Given the description of an element on the screen output the (x, y) to click on. 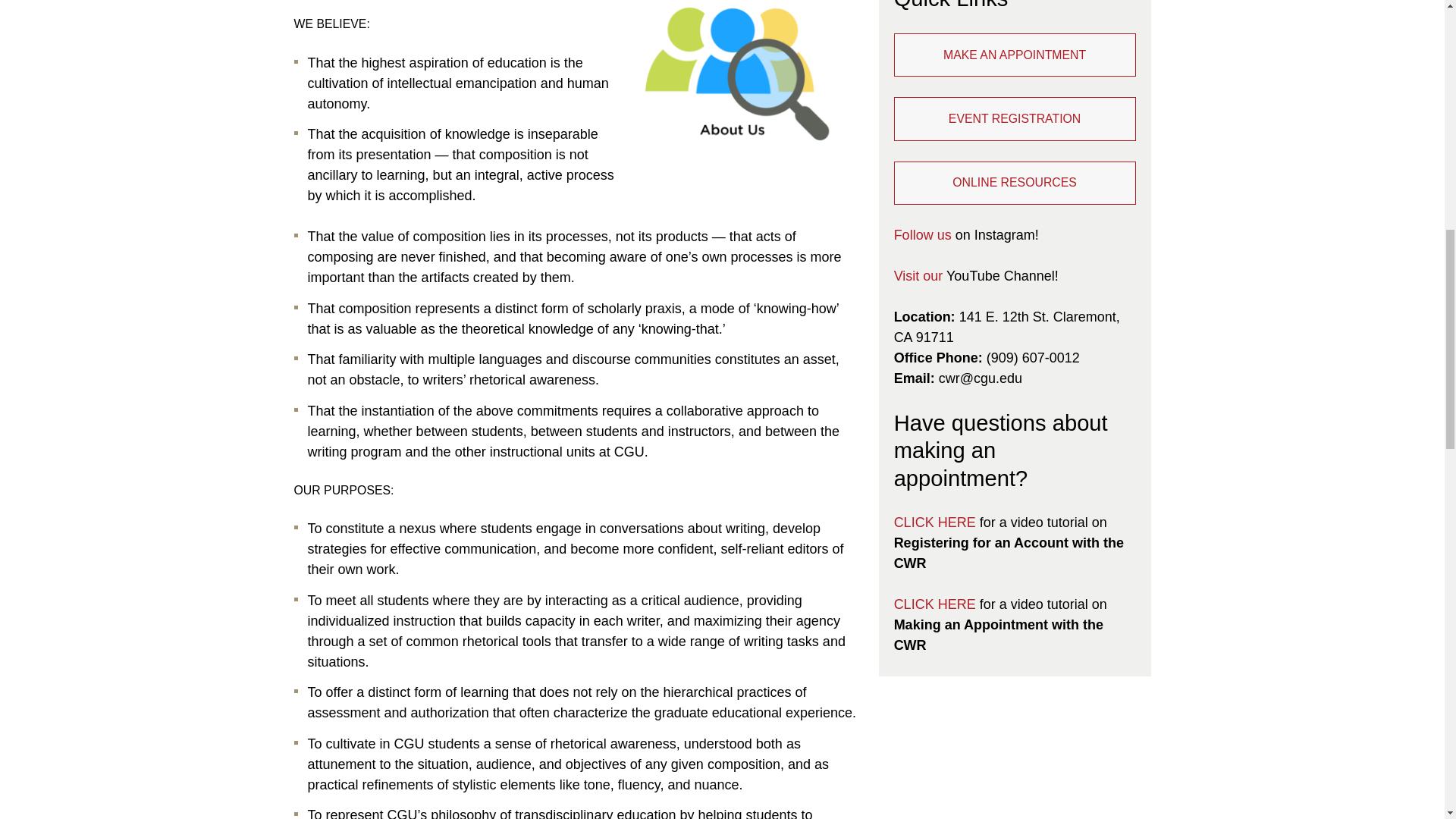
MAKE AN APPOINTMENT (1014, 54)
ONLINE RESOURCES (1014, 182)
EVENT REGISTRATION (1014, 118)
Follow us (922, 234)
